Given the description of an element on the screen output the (x, y) to click on. 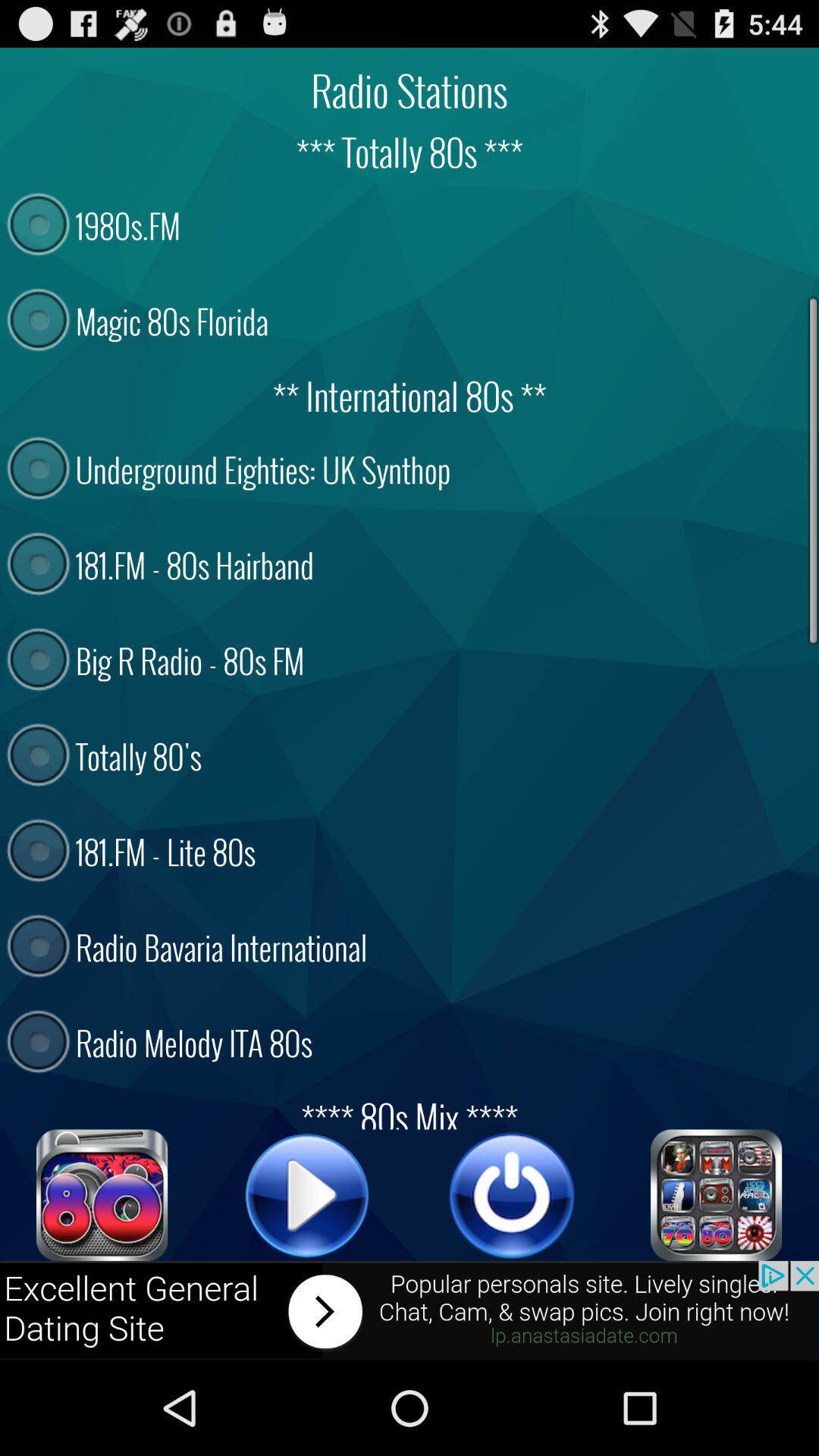
click on the image at the bottom right of the page (716, 1194)
